Given the description of an element on the screen output the (x, y) to click on. 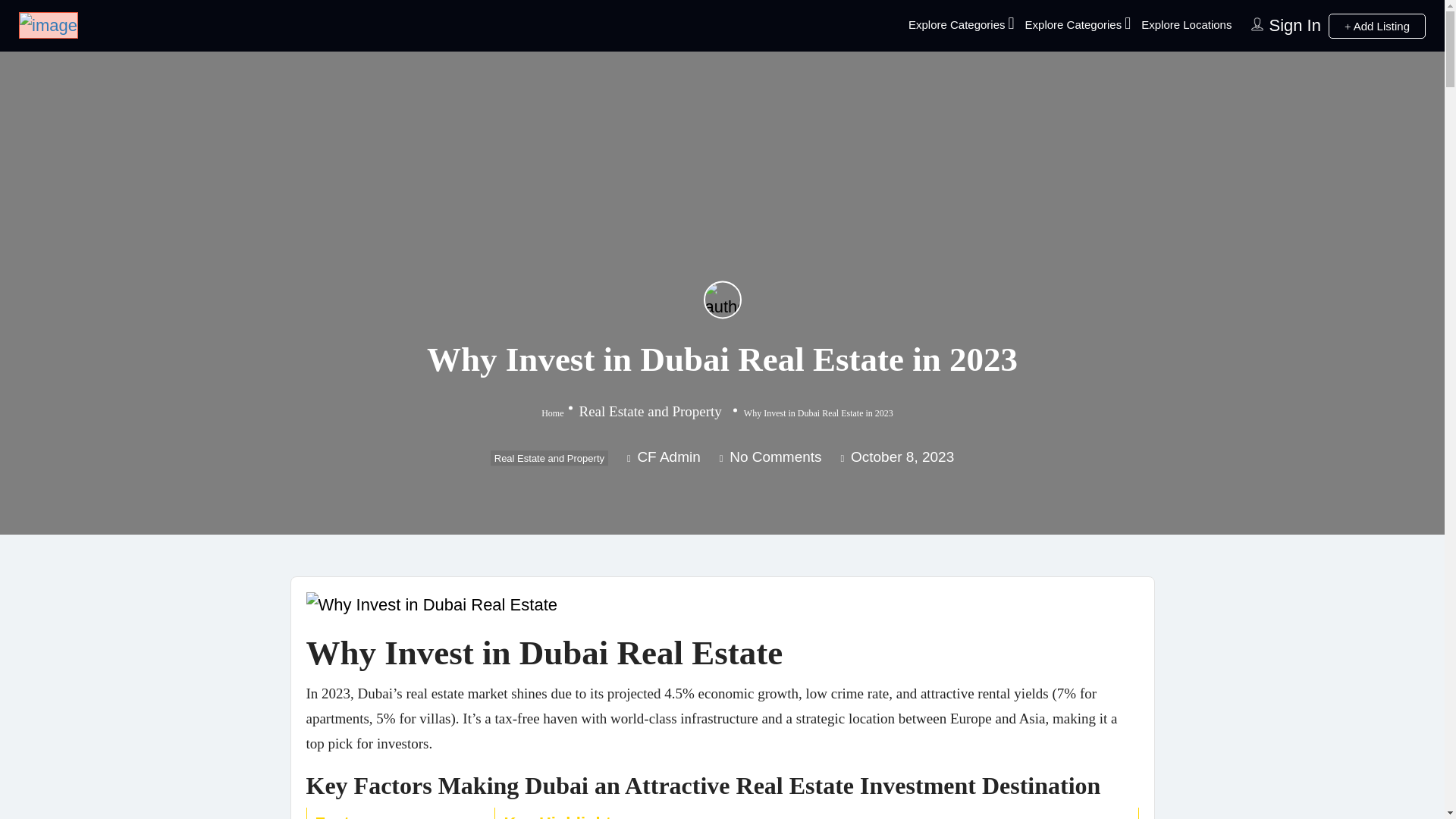
Real Estate and Property (650, 411)
Explore Locations (1186, 24)
Real Estate and Property (549, 458)
Explore Categories (957, 24)
Sign In (1294, 25)
Add Listing (1376, 25)
Explore Categories (1073, 24)
Home (552, 412)
